Given the description of an element on the screen output the (x, y) to click on. 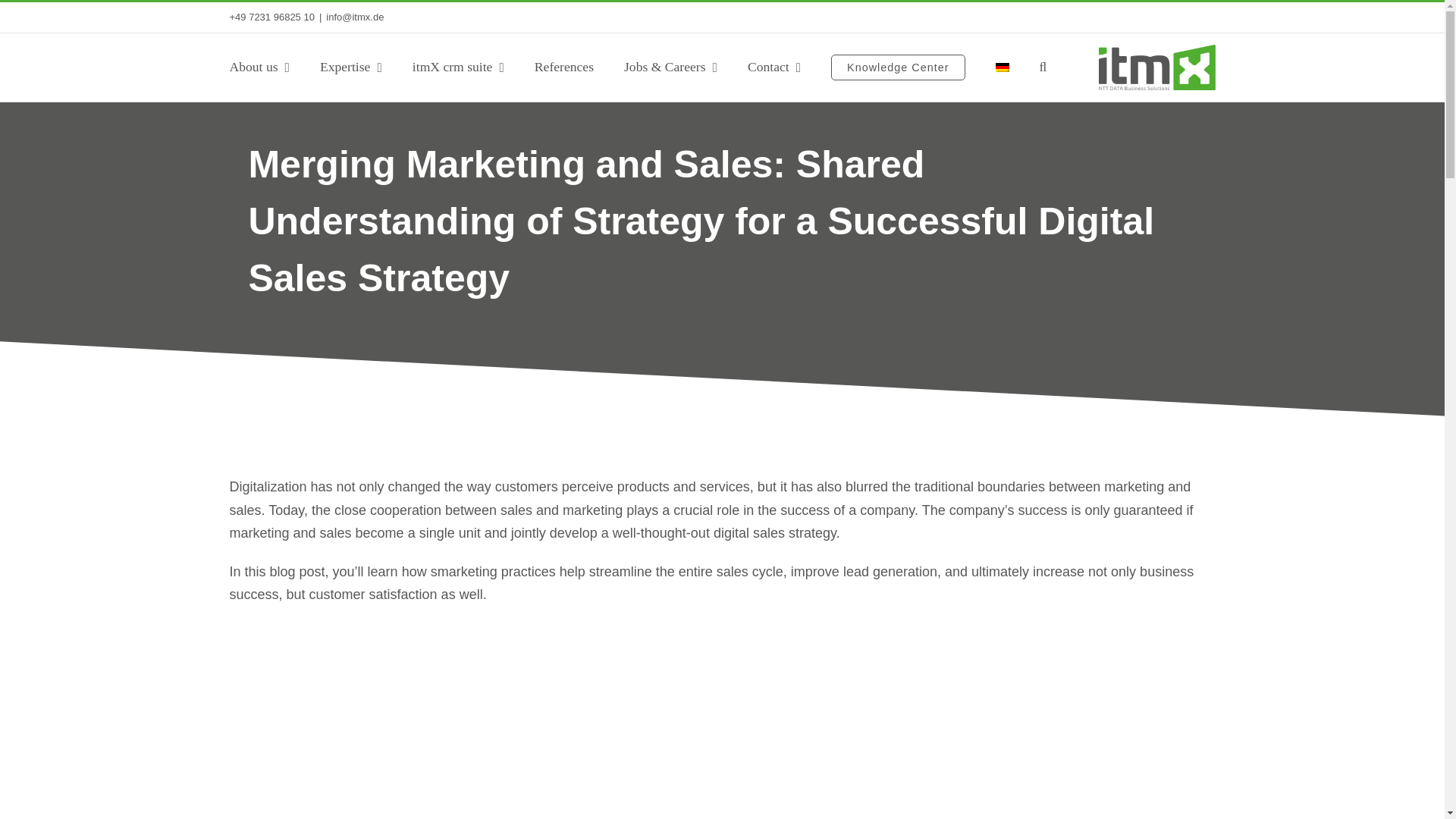
Group of women working together in coffee shop (721, 754)
itmX crm suite (457, 67)
Expertise (350, 67)
Open Cookie Preferences (32, 798)
